Given the description of an element on the screen output the (x, y) to click on. 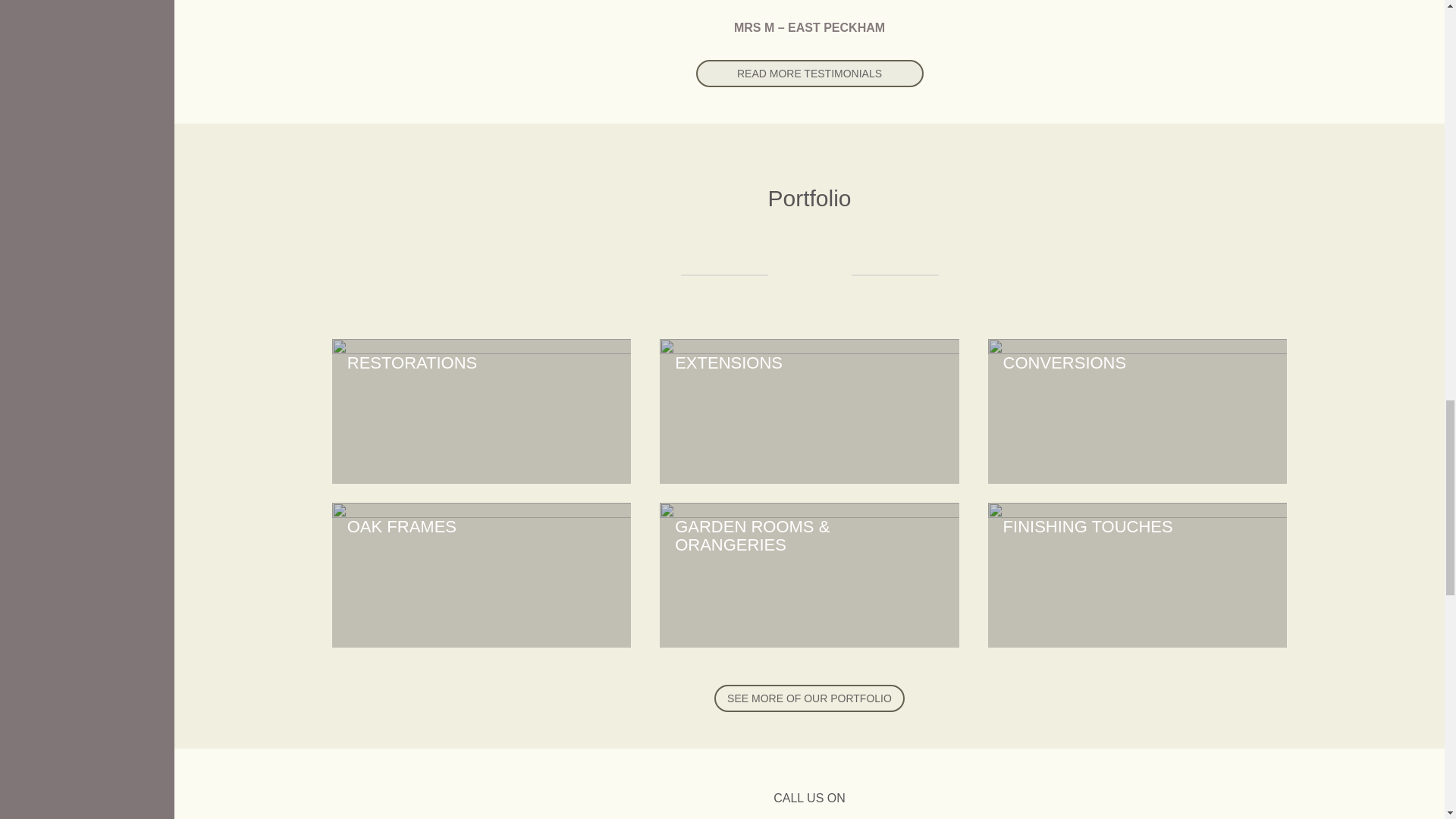
RESTORATIONS (481, 411)
FINISHING TOUCHES (1137, 574)
EXTENSIONS (809, 411)
READ MORE TESTIMONIALS (809, 72)
CONVERSIONS (1137, 411)
OAK FRAMES (481, 574)
SEE MORE OF OUR PORTFOLIO (809, 697)
SEE MORE OF OUR PORTFOLIO (808, 698)
